Given the description of an element on the screen output the (x, y) to click on. 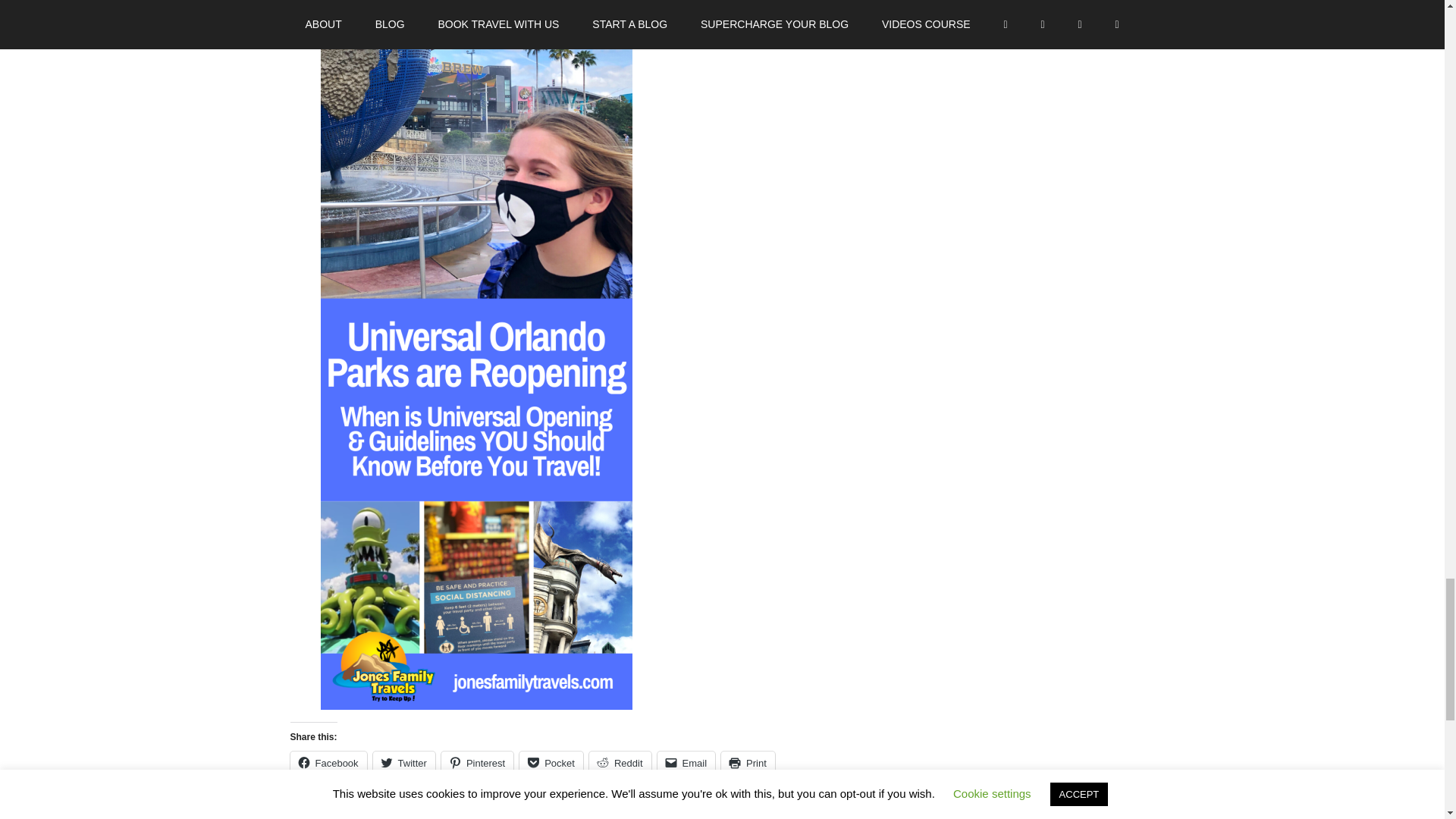
Click to share on Pocket (551, 762)
Click to print (747, 762)
Click to share on Twitter (403, 762)
Click to email a link to a friend (687, 762)
Click to share on Pinterest (477, 762)
Click to share on Reddit (619, 762)
Click to share on Facebook (327, 762)
